Given the description of an element on the screen output the (x, y) to click on. 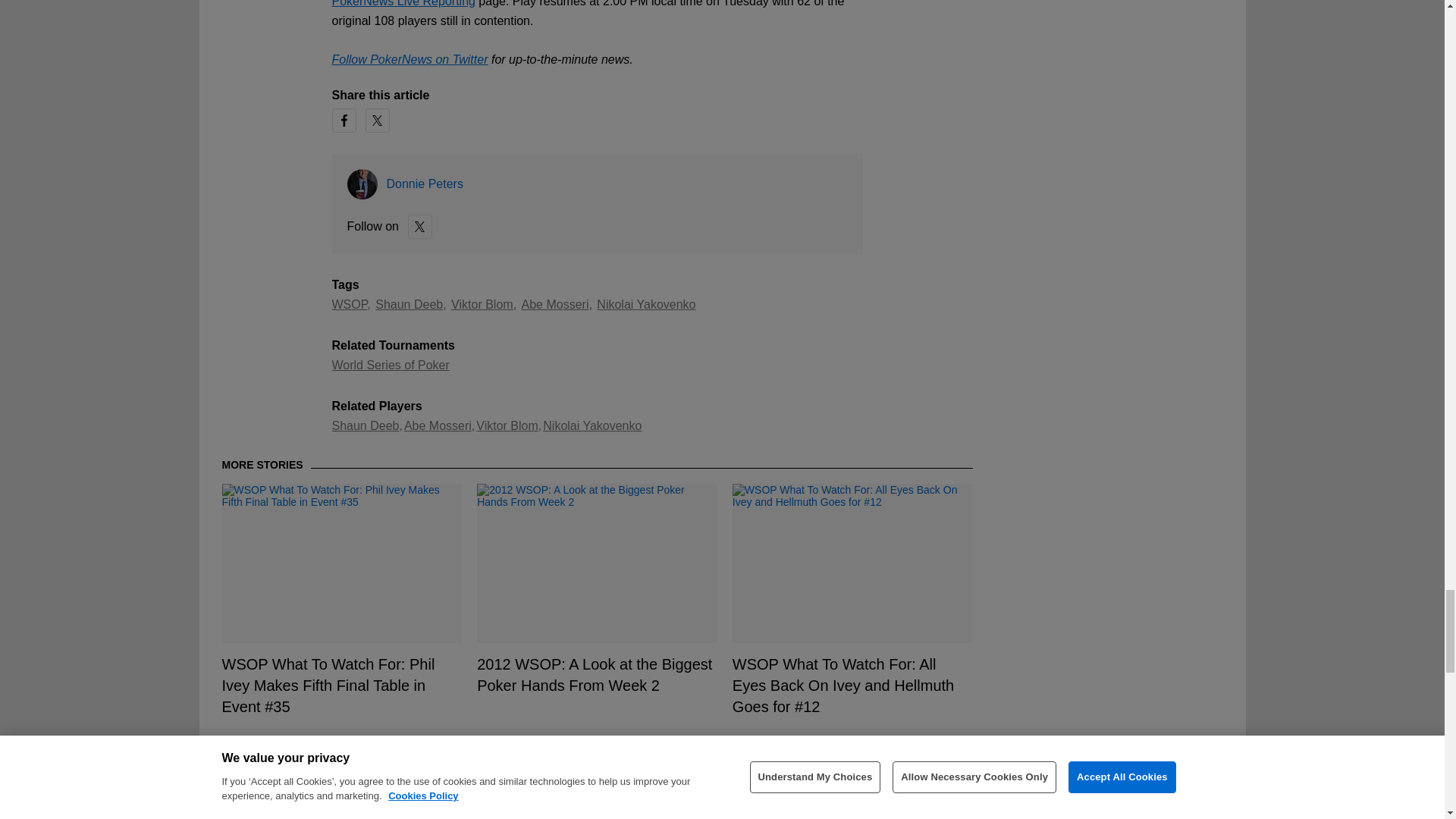
Share this on Facebook (343, 120)
Tweet this (377, 120)
Twitter (419, 226)
